Given the description of an element on the screen output the (x, y) to click on. 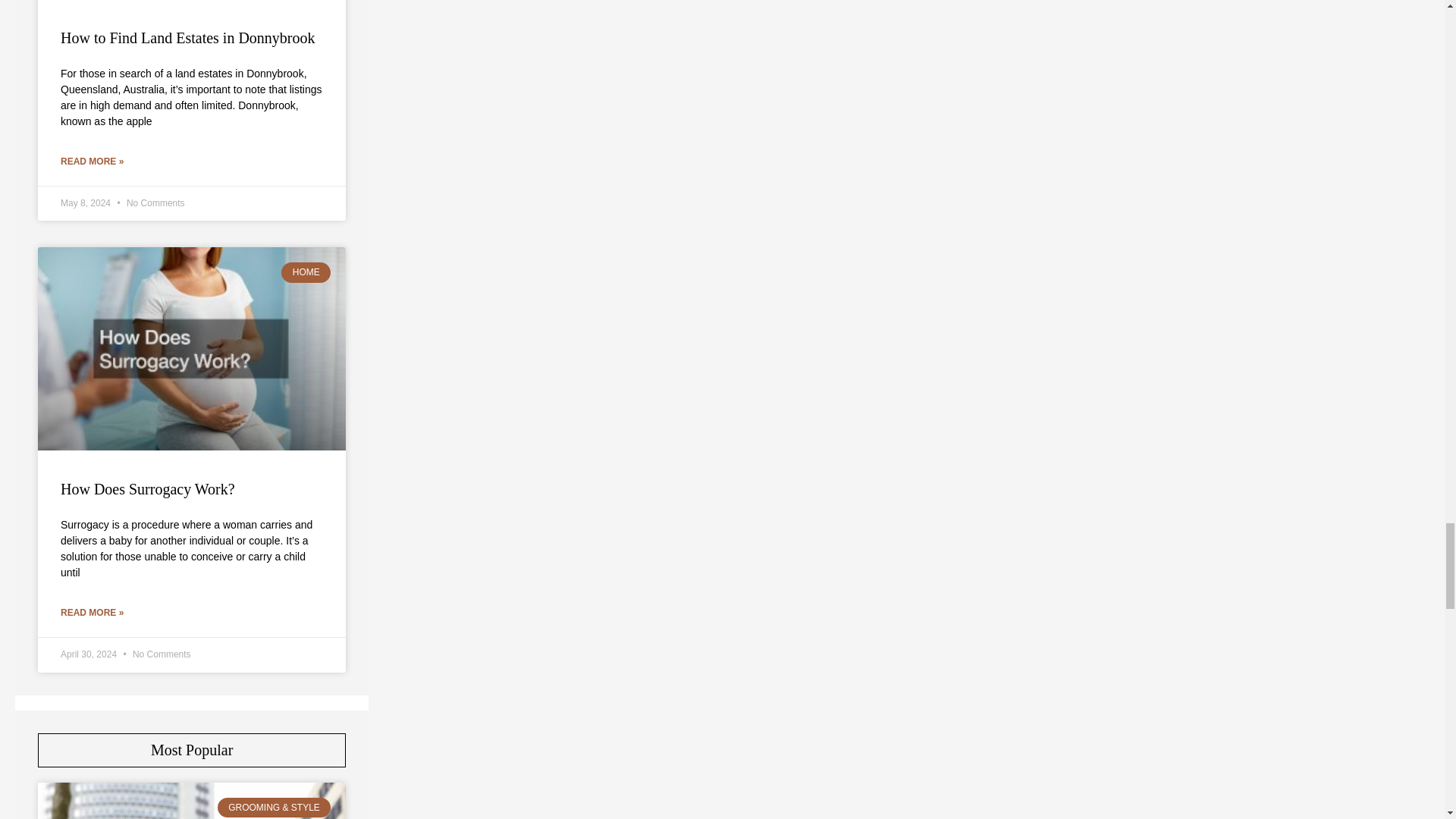
How to Find Land Estates in Donnybrook (188, 37)
